Given the description of an element on the screen output the (x, y) to click on. 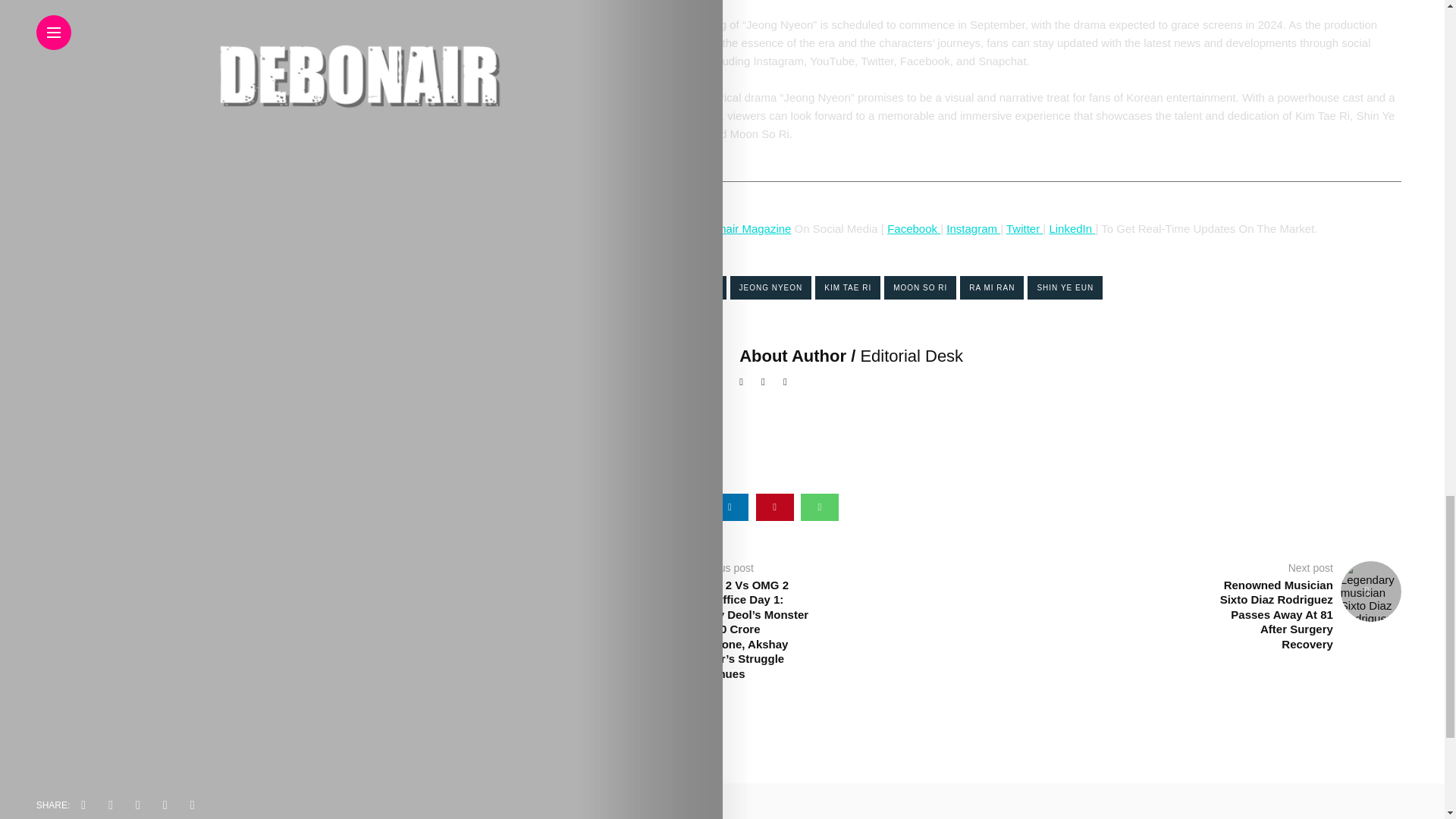
facebook (640, 506)
HISTORICAL DRAMA (673, 287)
LinkedIn (1070, 227)
Instagram  (973, 227)
Twitter (1022, 227)
Debonair Magazine (741, 227)
Facebook  (913, 227)
Posts by Editorial Desk (911, 354)
JEONG NYEON (769, 287)
